Given the description of an element on the screen output the (x, y) to click on. 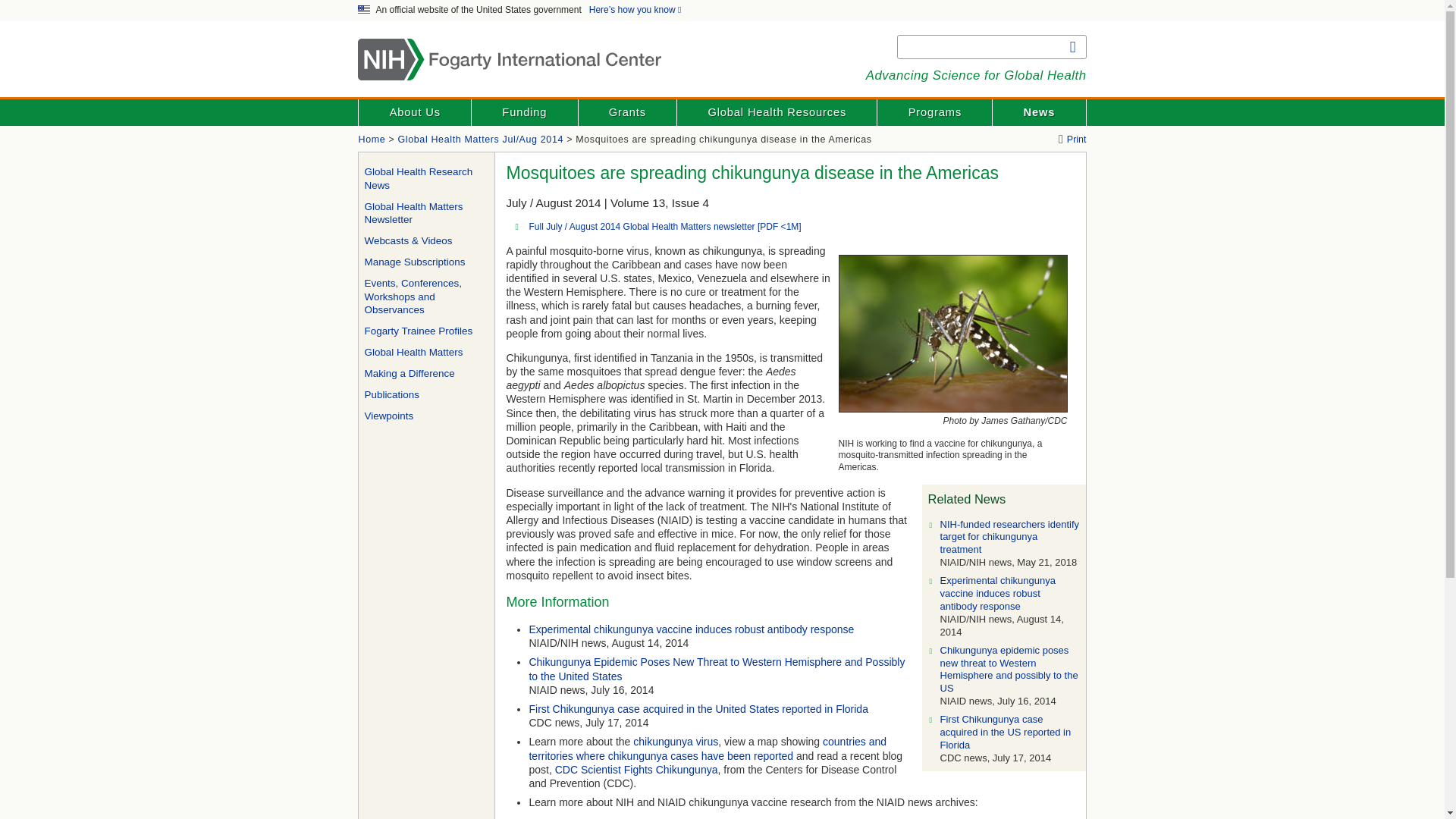
Global Health Resources (776, 112)
Grants (627, 112)
About Us (414, 112)
Funding (523, 112)
Search... (992, 47)
Search (1072, 47)
Go (1072, 47)
FIC Public Website (371, 139)
Print this page (1072, 139)
